Given the description of an element on the screen output the (x, y) to click on. 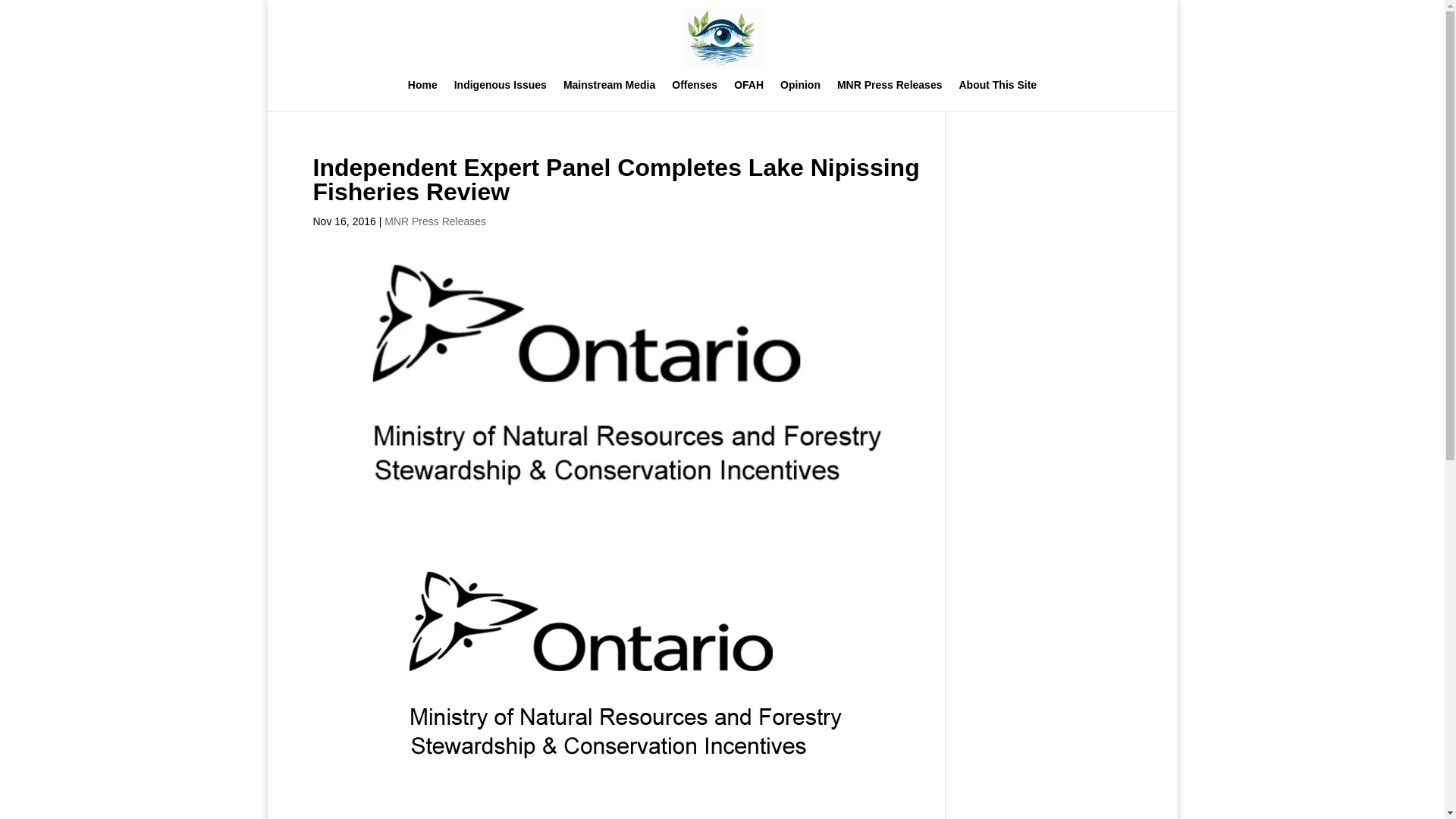
MNR Press Releases (435, 221)
About This Site (997, 95)
Mainstream Media (609, 95)
OFAH (747, 95)
Home (422, 95)
Opinion (800, 95)
Offenses (694, 95)
MNR Press Releases (889, 95)
Indigenous Issues (500, 95)
